Given the description of an element on the screen output the (x, y) to click on. 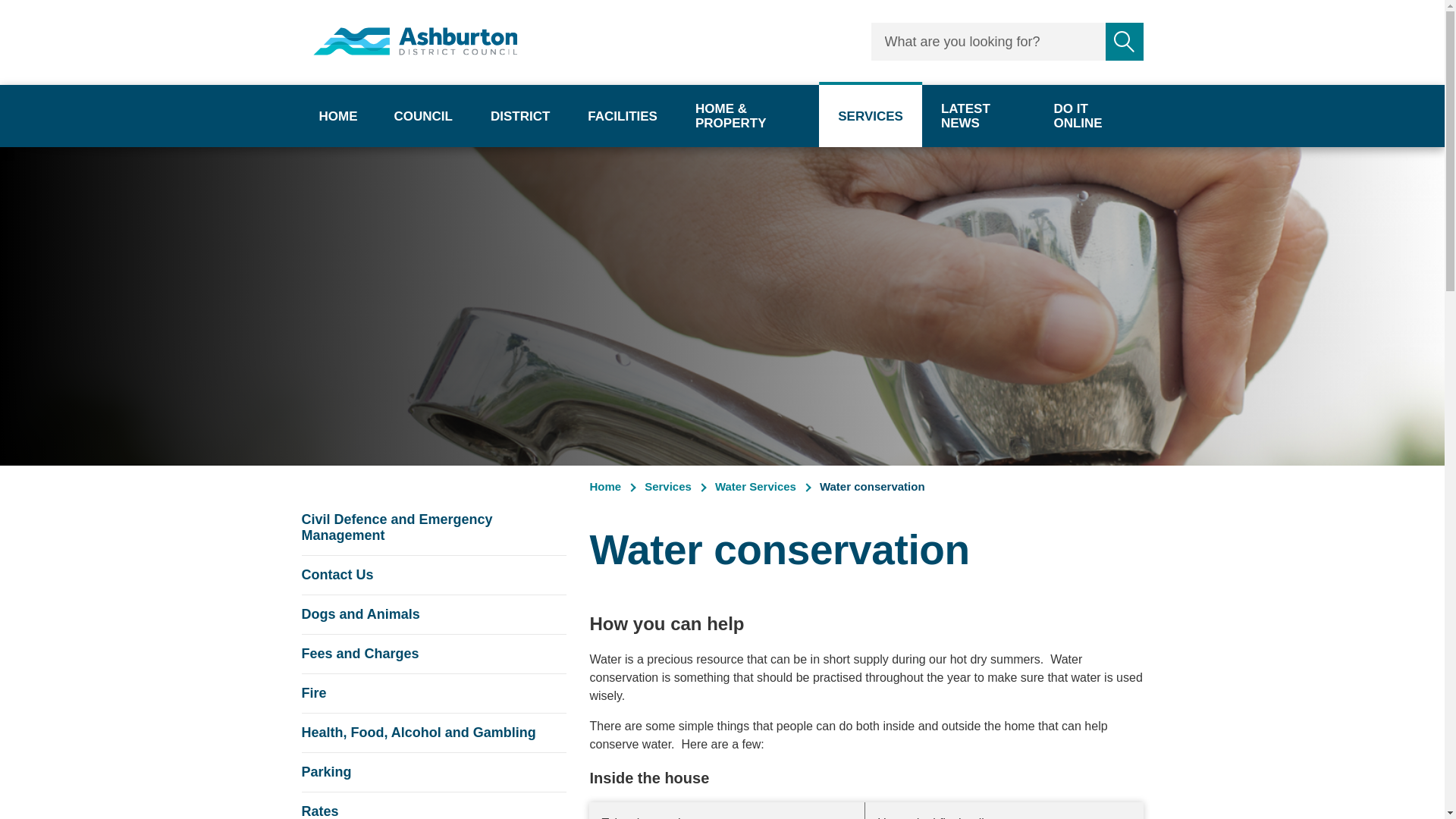
DISTRICT (520, 116)
FACILITIES (338, 116)
Submit search (623, 116)
Site Logo (1123, 41)
COUNCIL (415, 41)
